Given the description of an element on the screen output the (x, y) to click on. 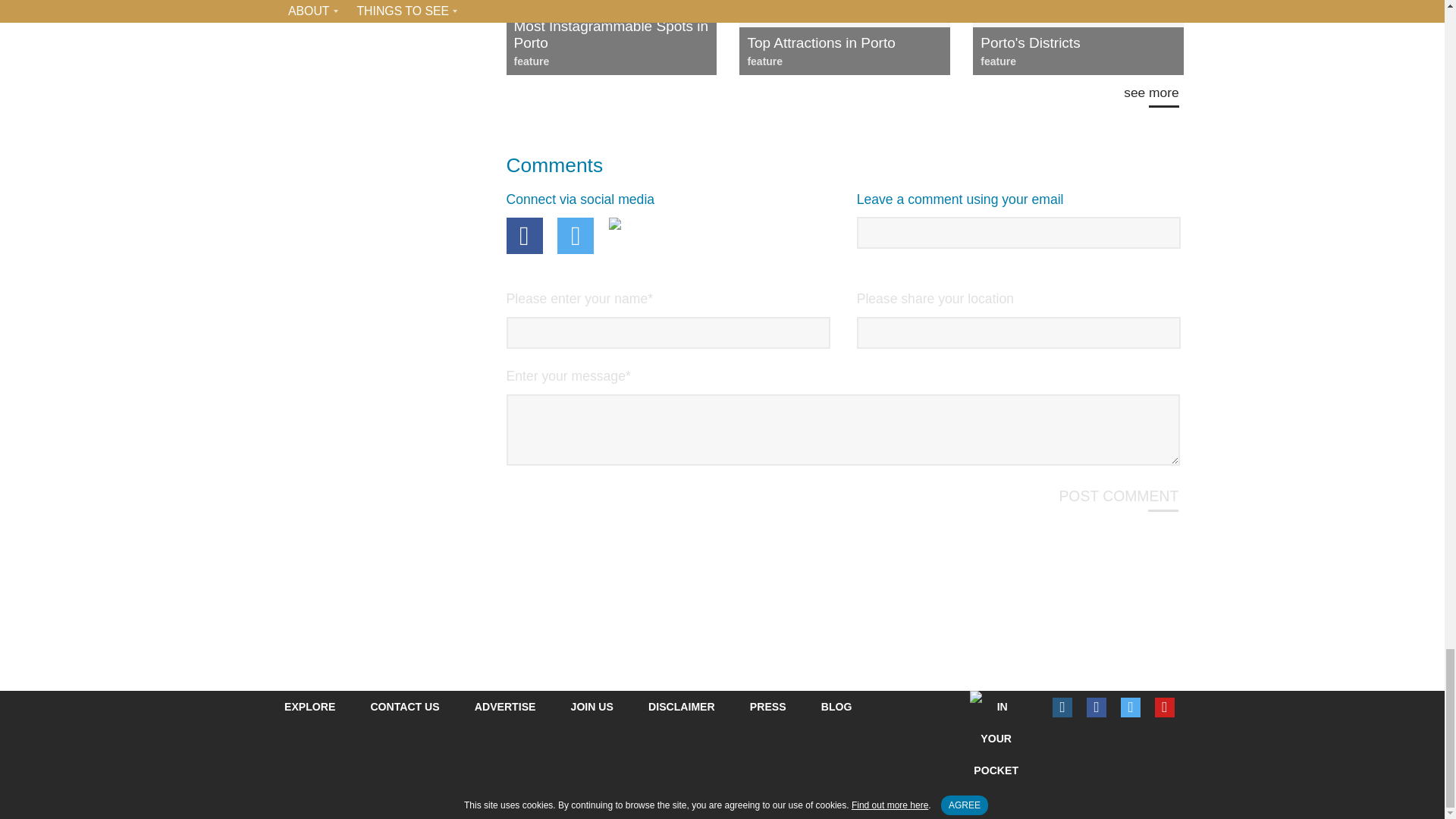
POST COMMENT (1118, 503)
see more (1150, 99)
CONTACT US (404, 706)
ADVERTISE (504, 706)
Most Instagrammable Spots in Porto (611, 34)
JOIN US (591, 706)
Top Attractions in Porto (844, 43)
Porto's Districts (1076, 43)
EXPLORE (308, 706)
